Given the description of an element on the screen output the (x, y) to click on. 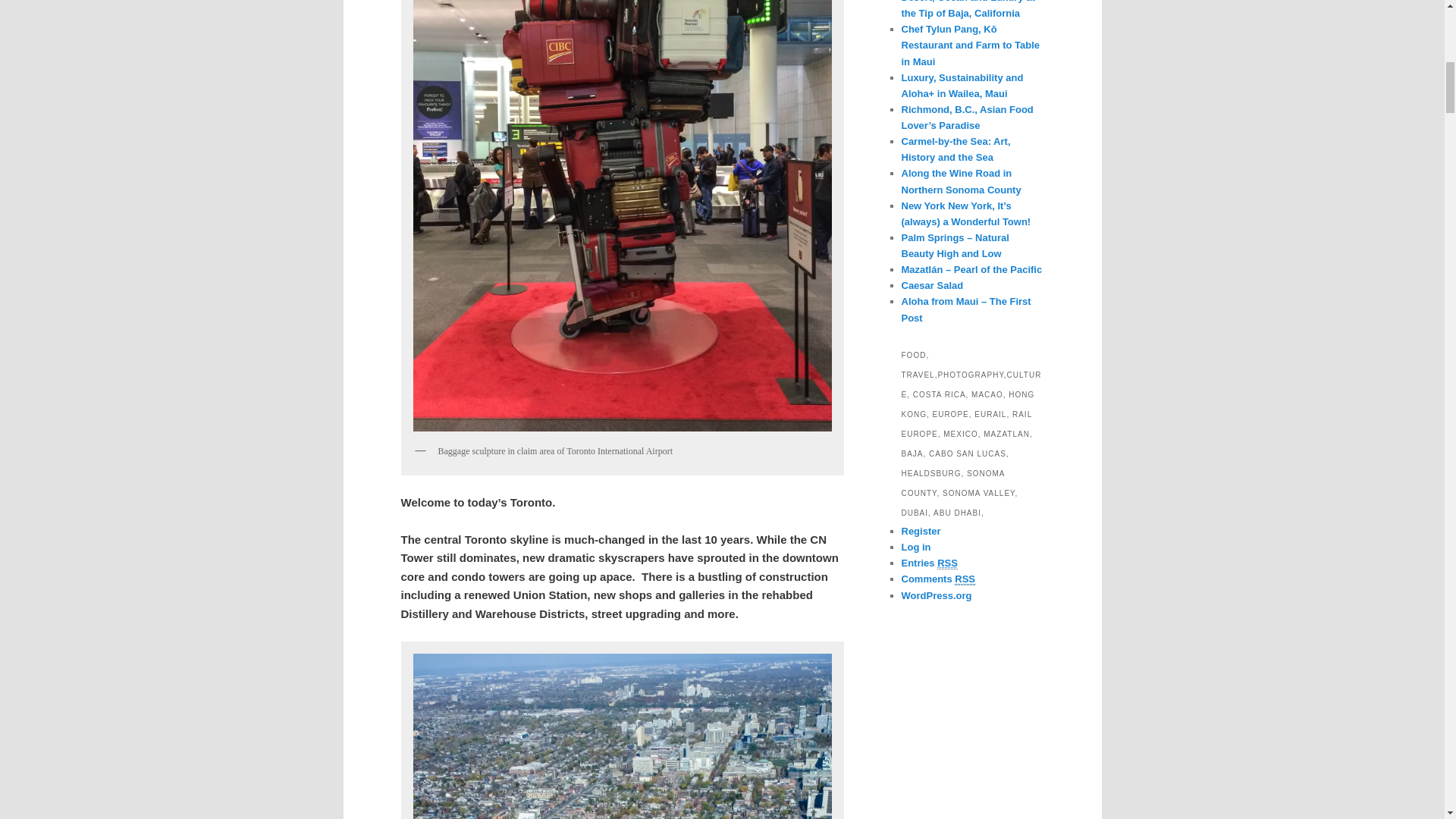
Really Simple Syndication (965, 579)
Really Simple Syndication (947, 563)
